Given the description of an element on the screen output the (x, y) to click on. 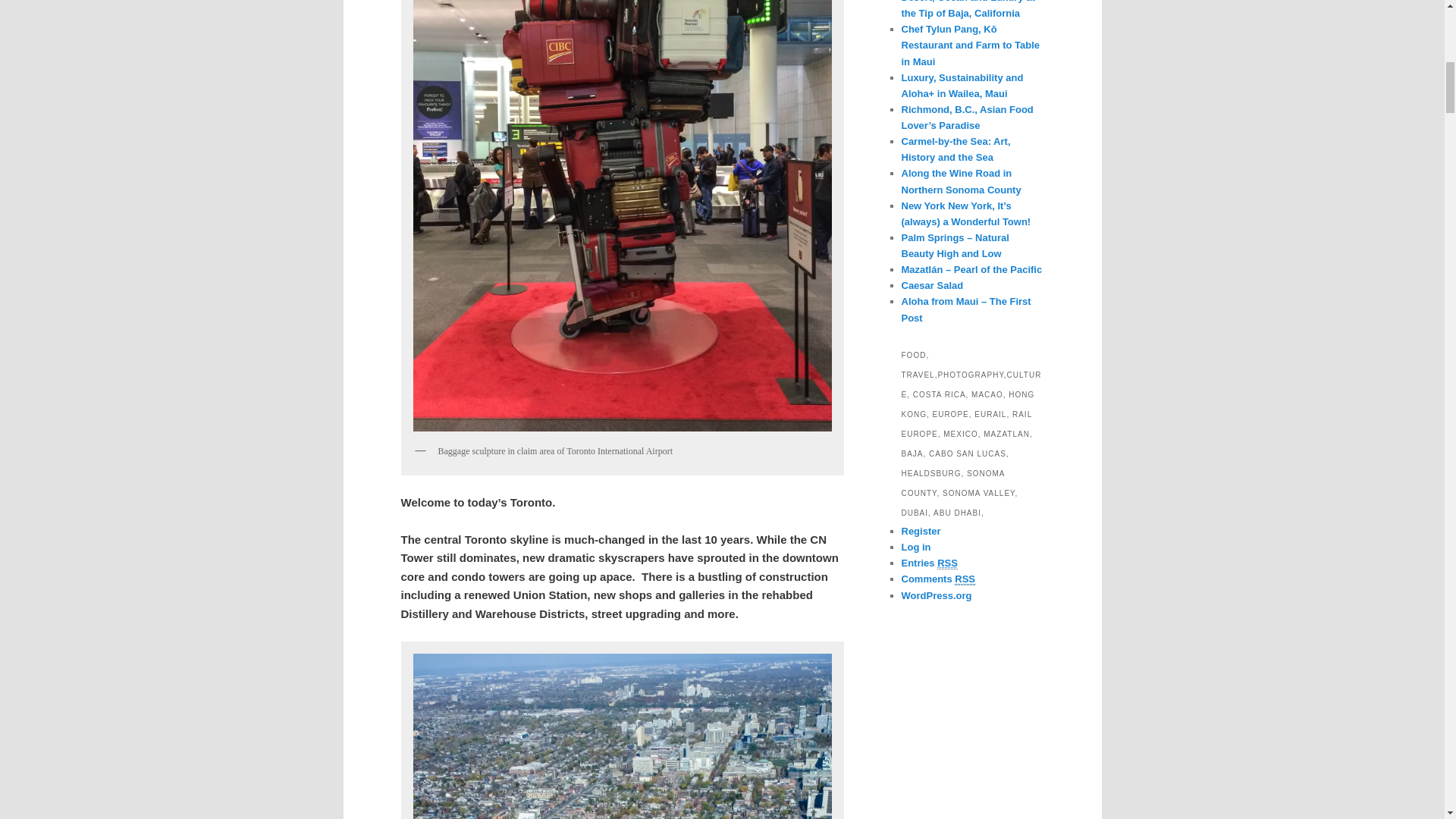
Really Simple Syndication (965, 579)
Really Simple Syndication (947, 563)
